Given the description of an element on the screen output the (x, y) to click on. 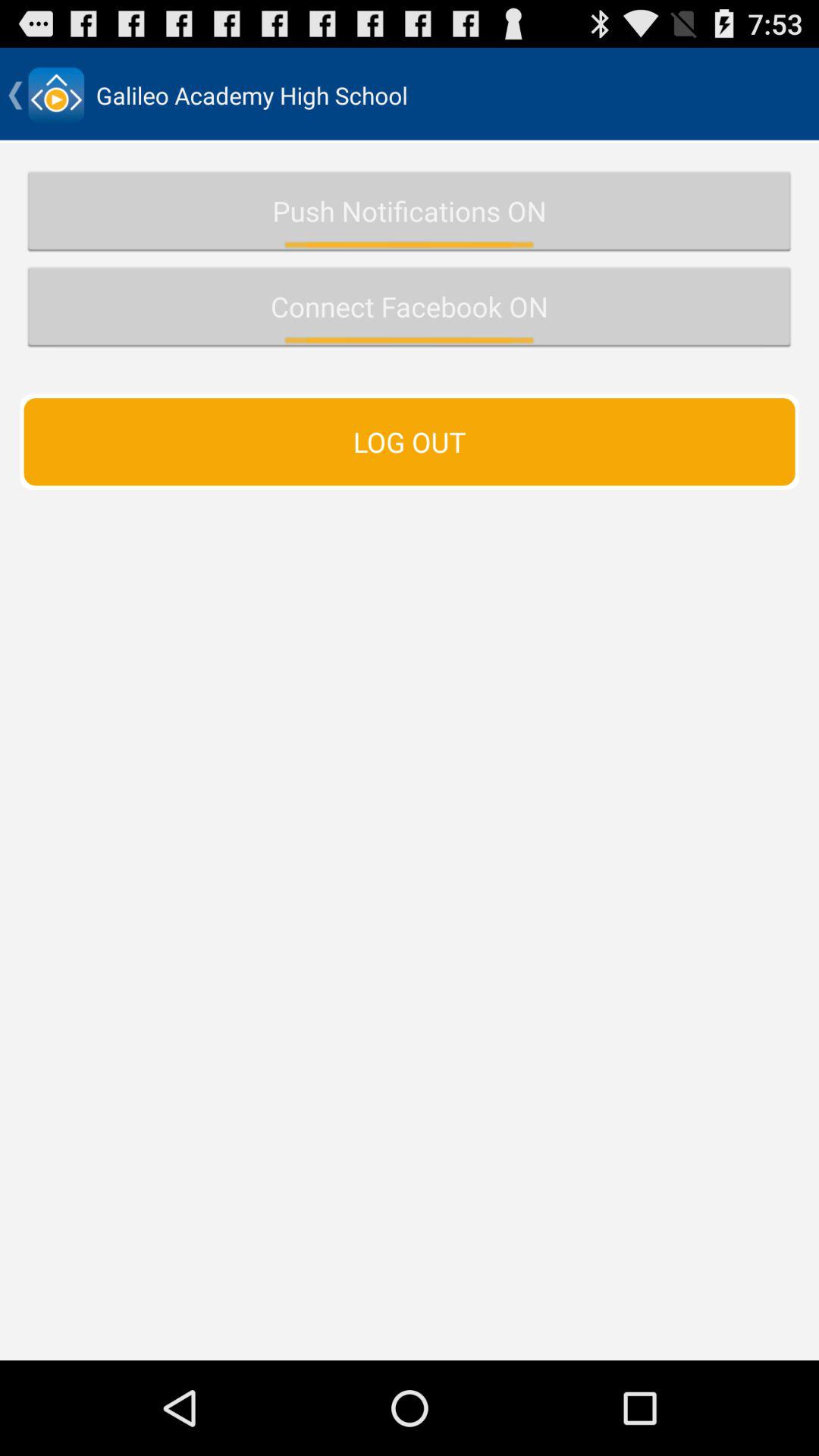
press the connect facebook on icon (409, 306)
